Given the description of an element on the screen output the (x, y) to click on. 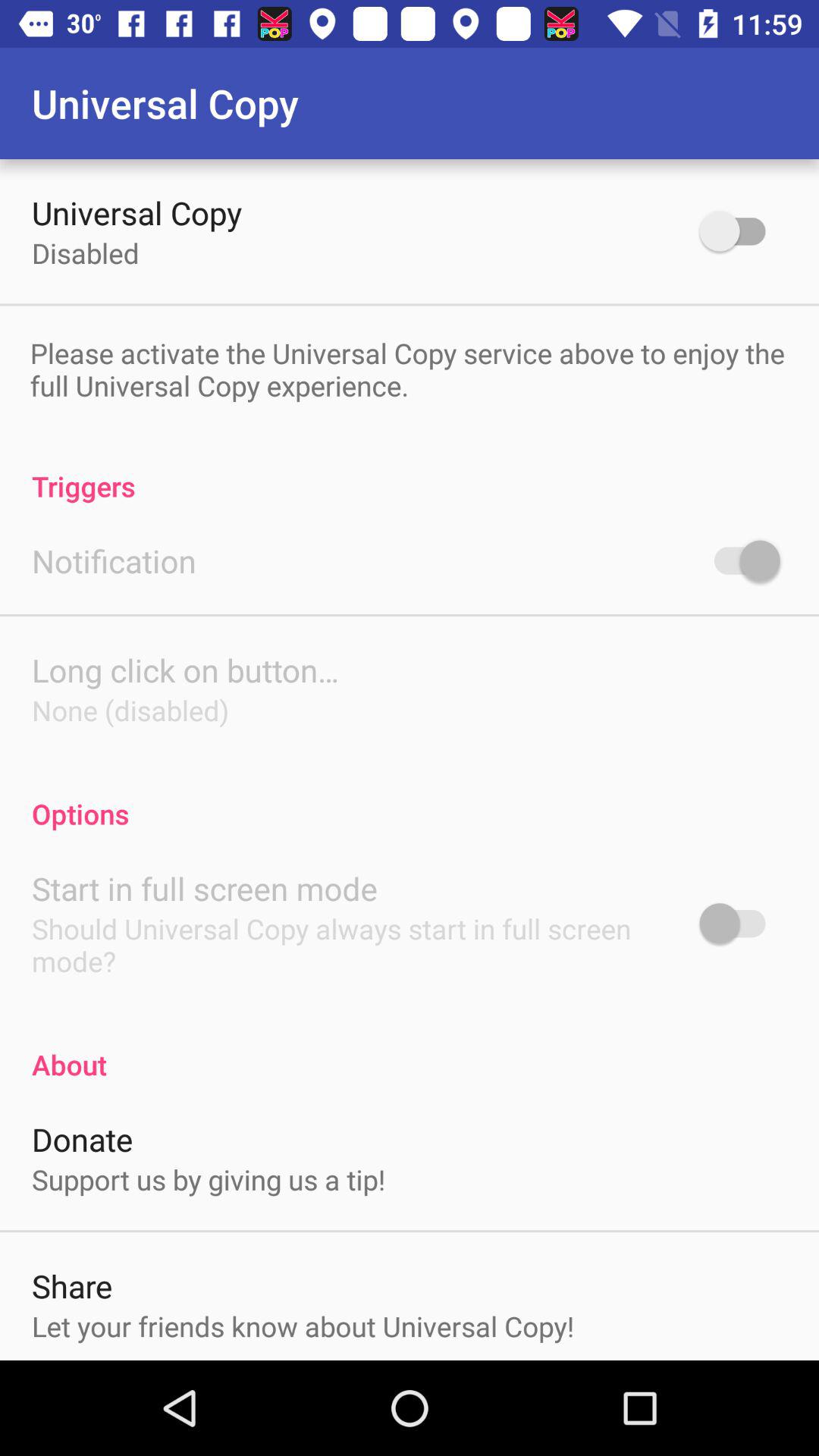
scroll to options (409, 797)
